Given the description of an element on the screen output the (x, y) to click on. 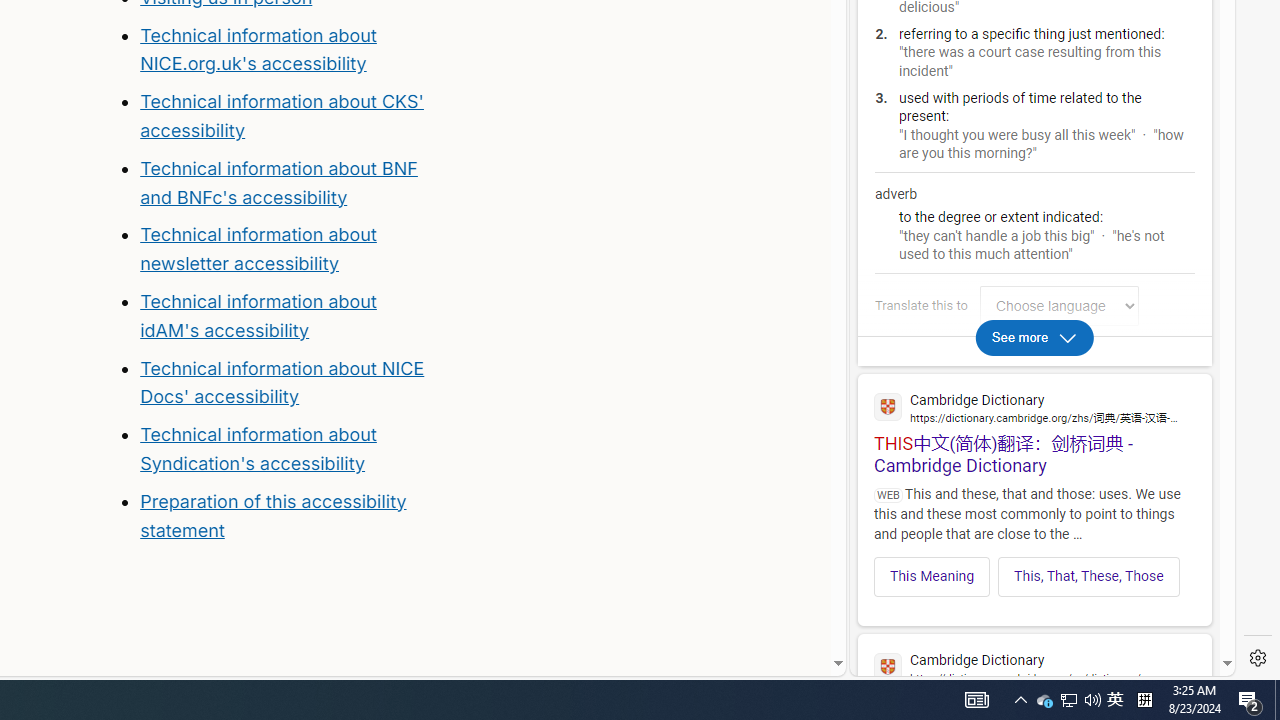
Cambridge Dictionary (1034, 666)
